Given the description of an element on the screen output the (x, y) to click on. 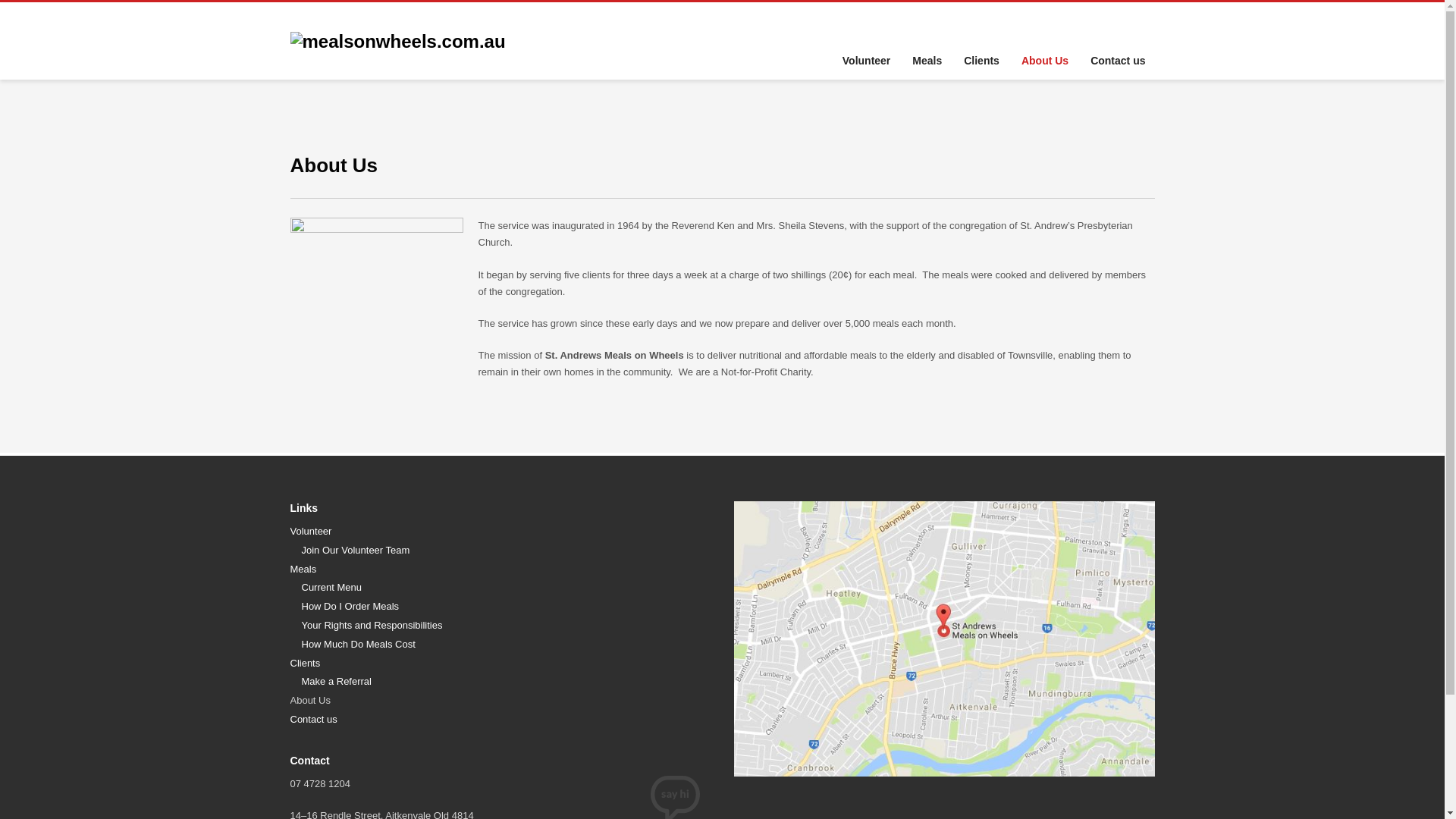
Current Menu Element type: text (506, 588)
About Us Element type: text (1044, 60)
Make a Referral Element type: text (506, 682)
Clients Element type: text (499, 663)
Volunteer Element type: text (499, 531)
Join Our Volunteer Team Element type: text (506, 550)
About Us Element type: text (499, 701)
Clients Element type: text (981, 60)
How Do I Order Meals Element type: text (506, 607)
Contact us Element type: text (499, 720)
Meals Element type: text (499, 569)
Volunteer Element type: text (866, 60)
Meals Element type: text (926, 60)
How Much Do Meals Cost Element type: text (506, 644)
St Andrews Meals on Wheels Element type: hover (397, 41)
Your Rights and Responsibilities Element type: text (506, 625)
Contact us Element type: text (1117, 60)
